Given the description of an element on the screen output the (x, y) to click on. 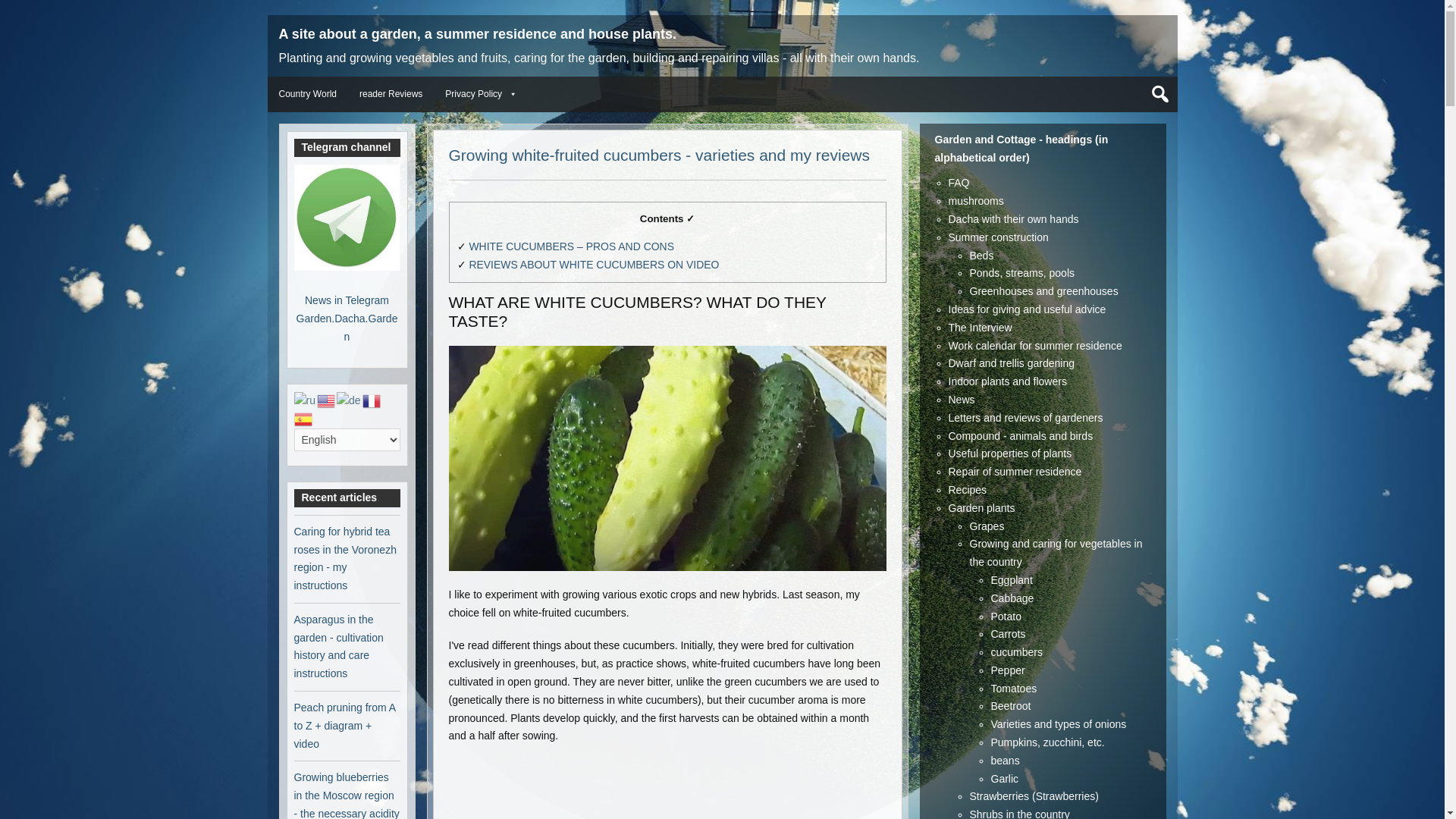
Country World (306, 94)
Growing white-fruited cucumbers - varieties and my reviews (659, 154)
belye-ogurtcy-foto-6 (667, 457)
Privacy Policy (477, 94)
REVIEWS ABOUT WHITE CUCUMBERS ON VIDEO (593, 264)
A site about a garden, a summer residence and house plants. (478, 33)
reader Reviews (390, 94)
